Given the description of an element on the screen output the (x, y) to click on. 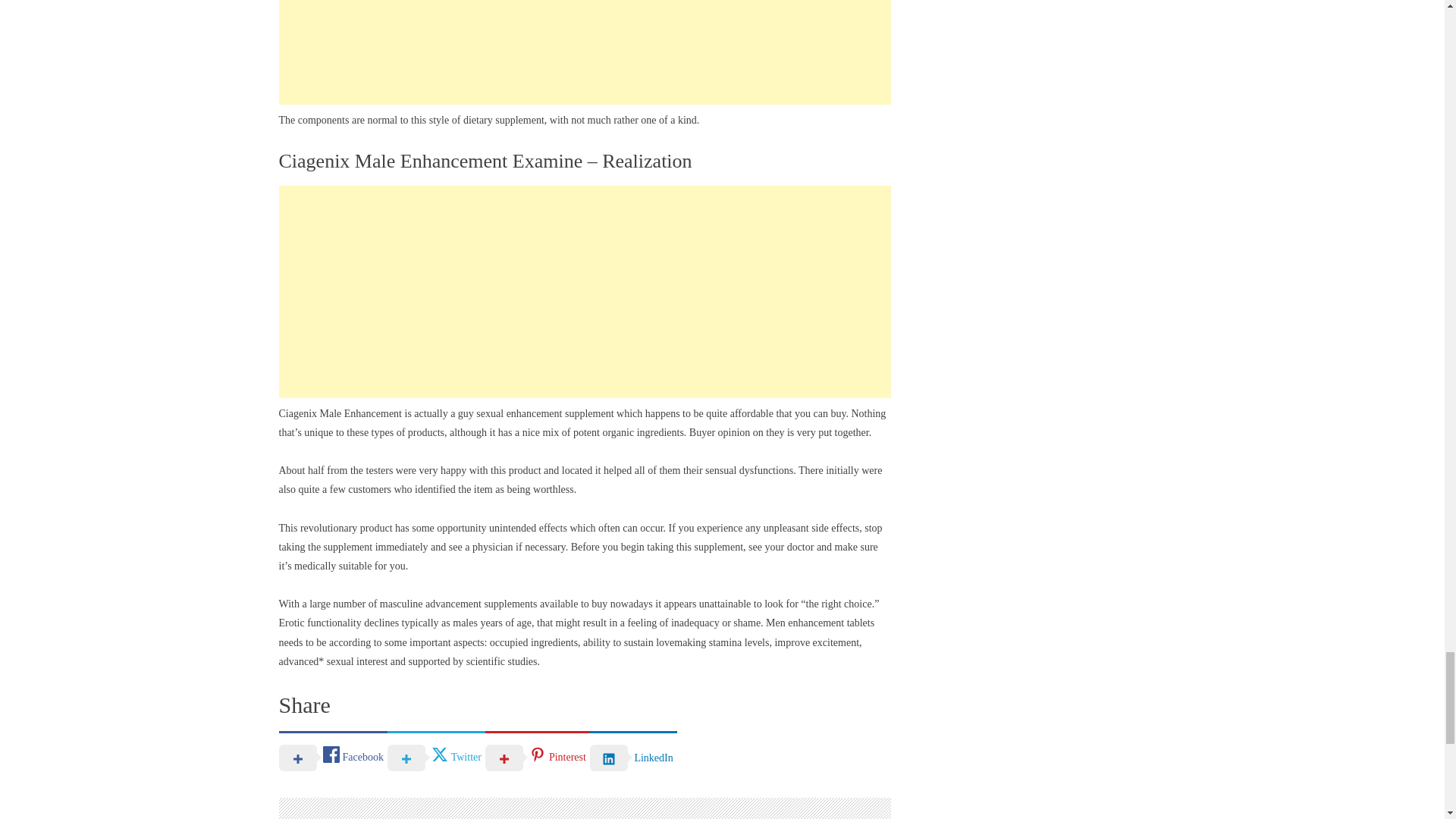
LinkedIn (633, 756)
Pinterest (536, 756)
Ciagenix Male Enhancement (341, 413)
Facebook (333, 756)
Twitter (435, 756)
